Given the description of an element on the screen output the (x, y) to click on. 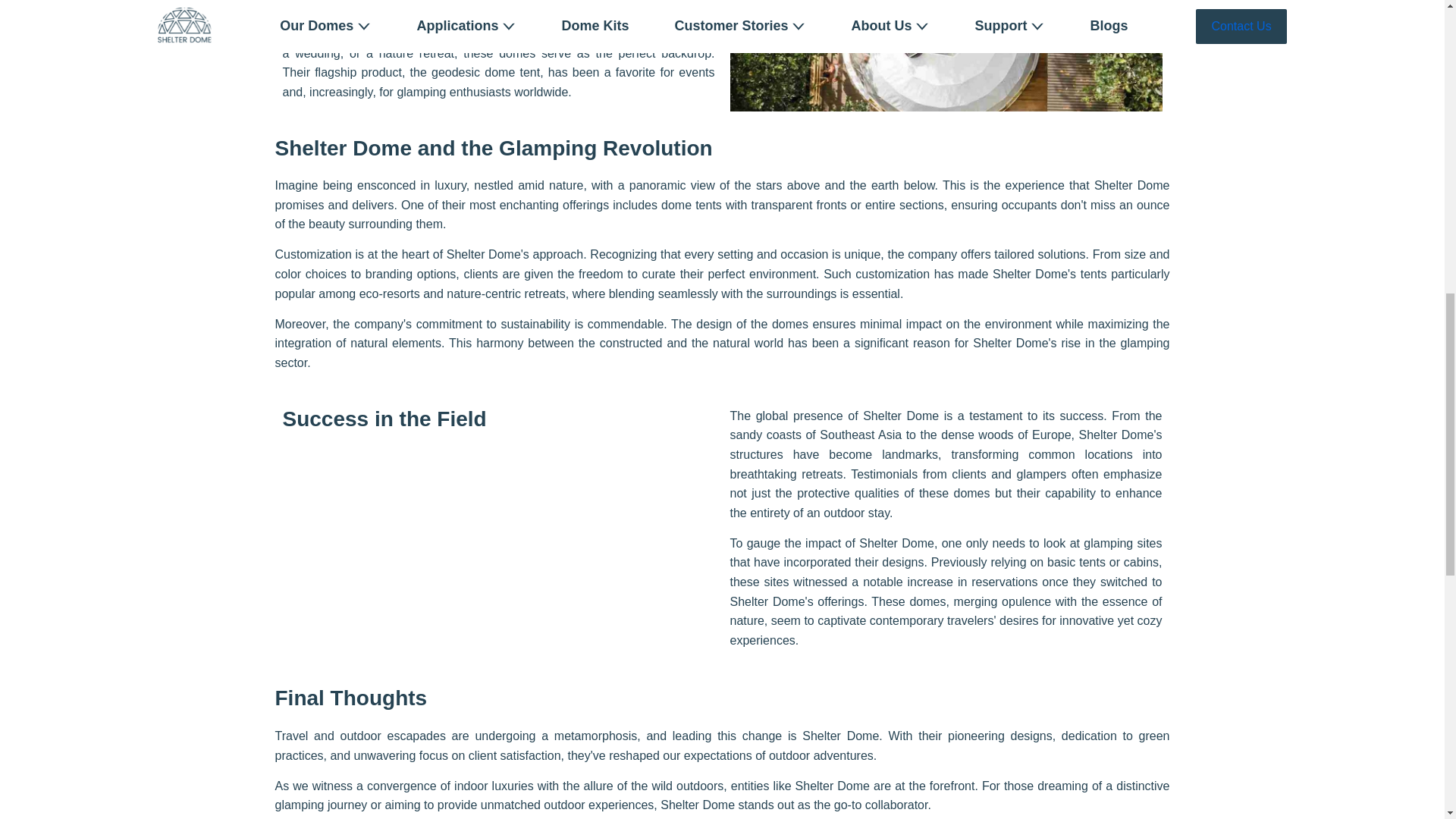
the lost dome (945, 55)
